Given the description of an element on the screen output the (x, y) to click on. 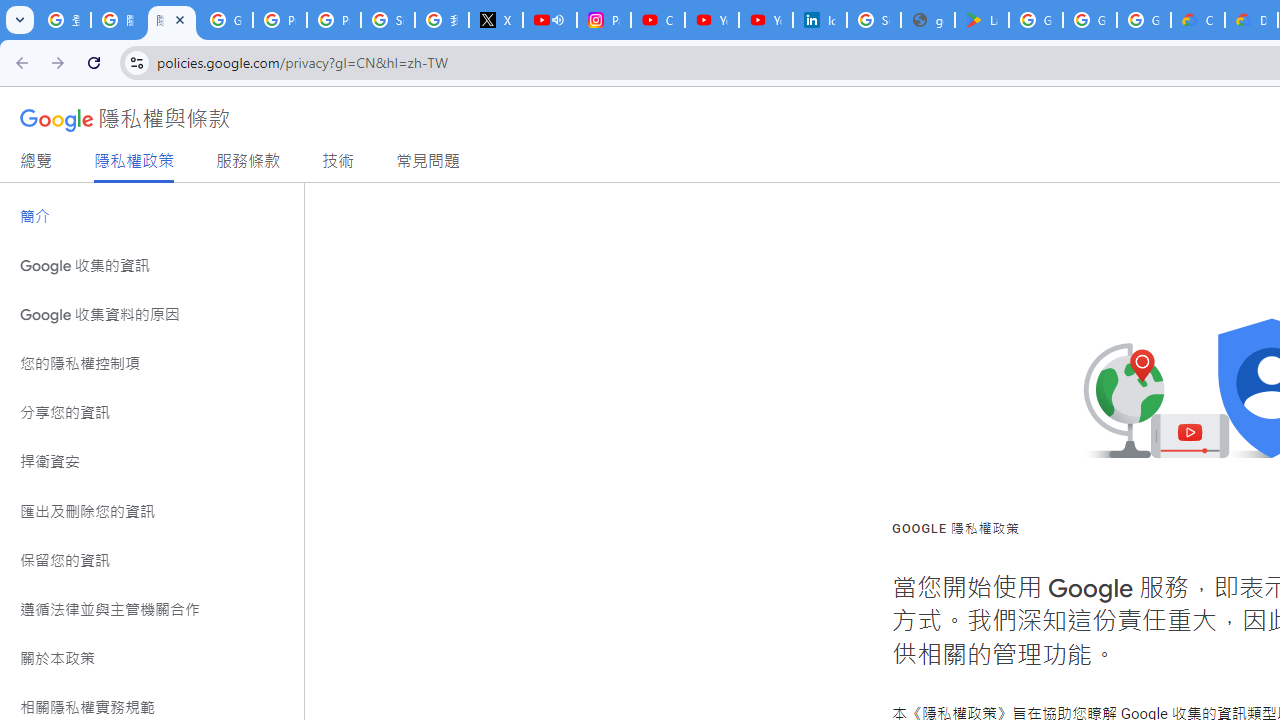
Privacy Help Center - Policies Help (333, 20)
Mute tab (557, 20)
Sign in - Google Accounts (387, 20)
Identity verification via Persona | LinkedIn Help (819, 20)
Privacy Help Center - Policies Help (280, 20)
Last Shelter: Survival - Apps on Google Play (981, 20)
